Given the description of an element on the screen output the (x, y) to click on. 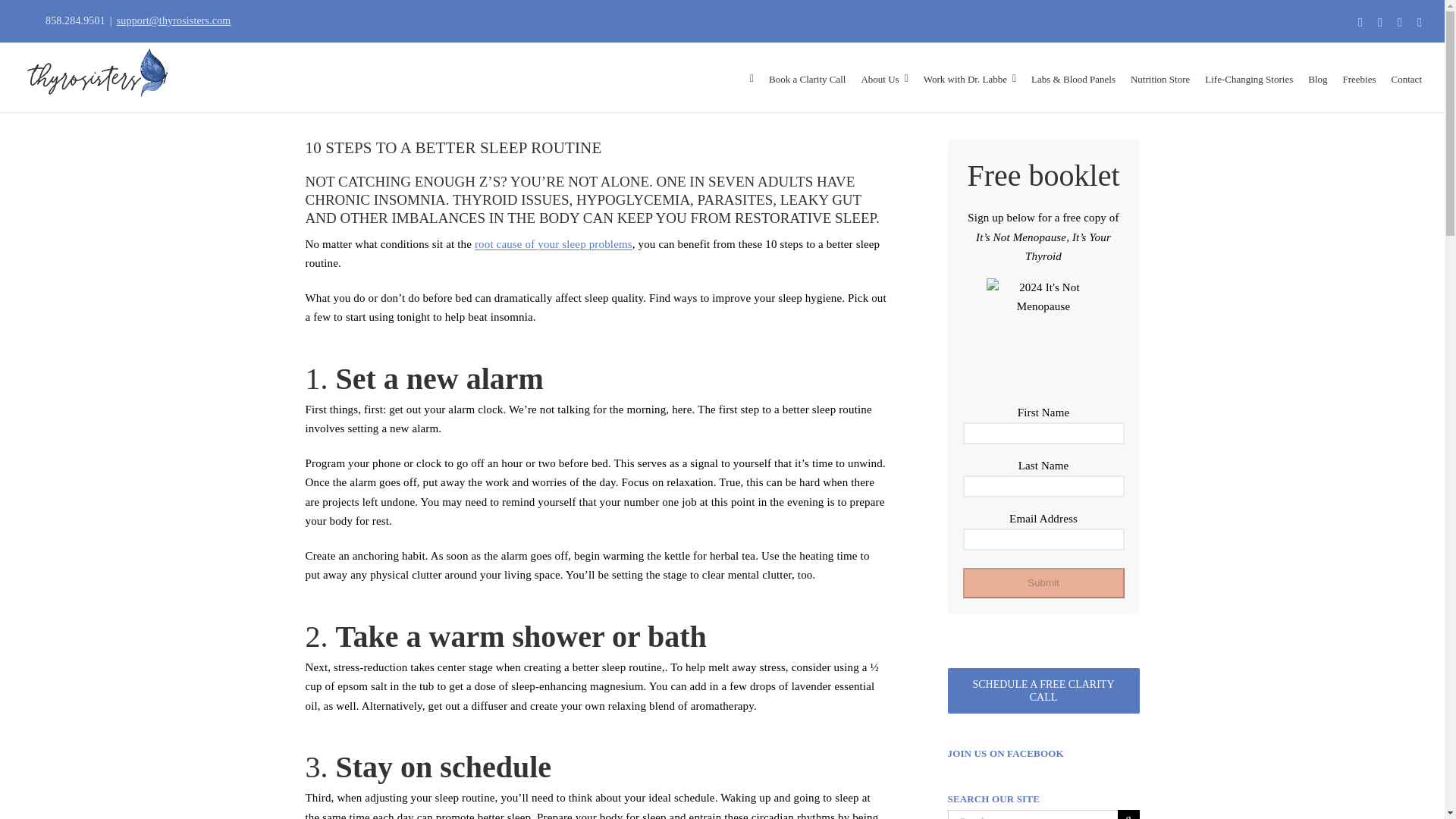
Book a Clarity Call (806, 77)
root cause of your sleep problems (552, 244)
Work with Dr. Labbe (969, 77)
Life-Changing Stories (1248, 77)
